Given the description of an element on the screen output the (x, y) to click on. 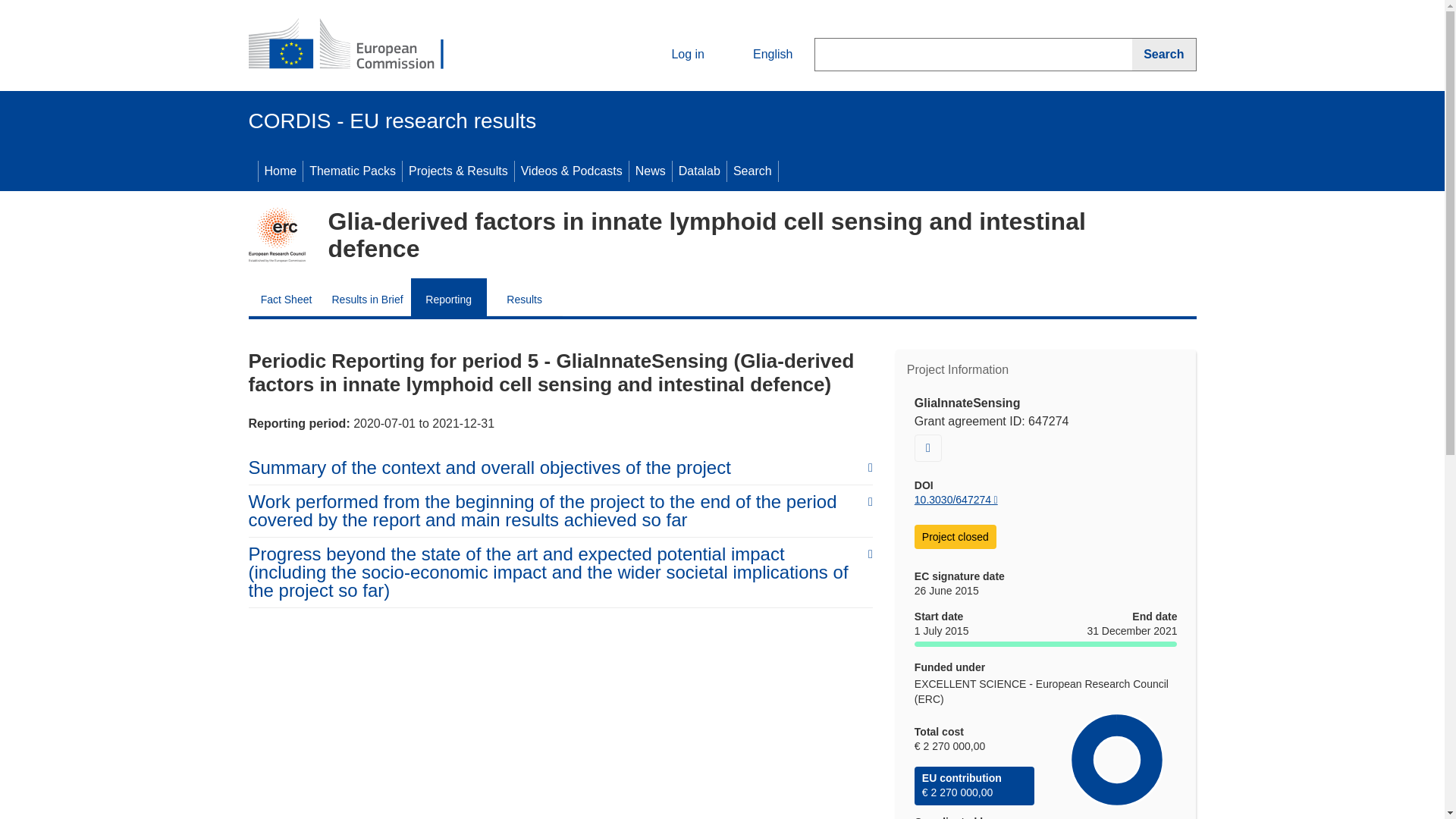
European Commission (358, 45)
News (649, 170)
Home (279, 170)
Fact Sheet (286, 297)
Search (751, 170)
Open in new window (928, 447)
Summary of the context and overall objectives of the project (560, 467)
Log in (675, 54)
Thematic Packs (351, 170)
